Given the description of an element on the screen output the (x, y) to click on. 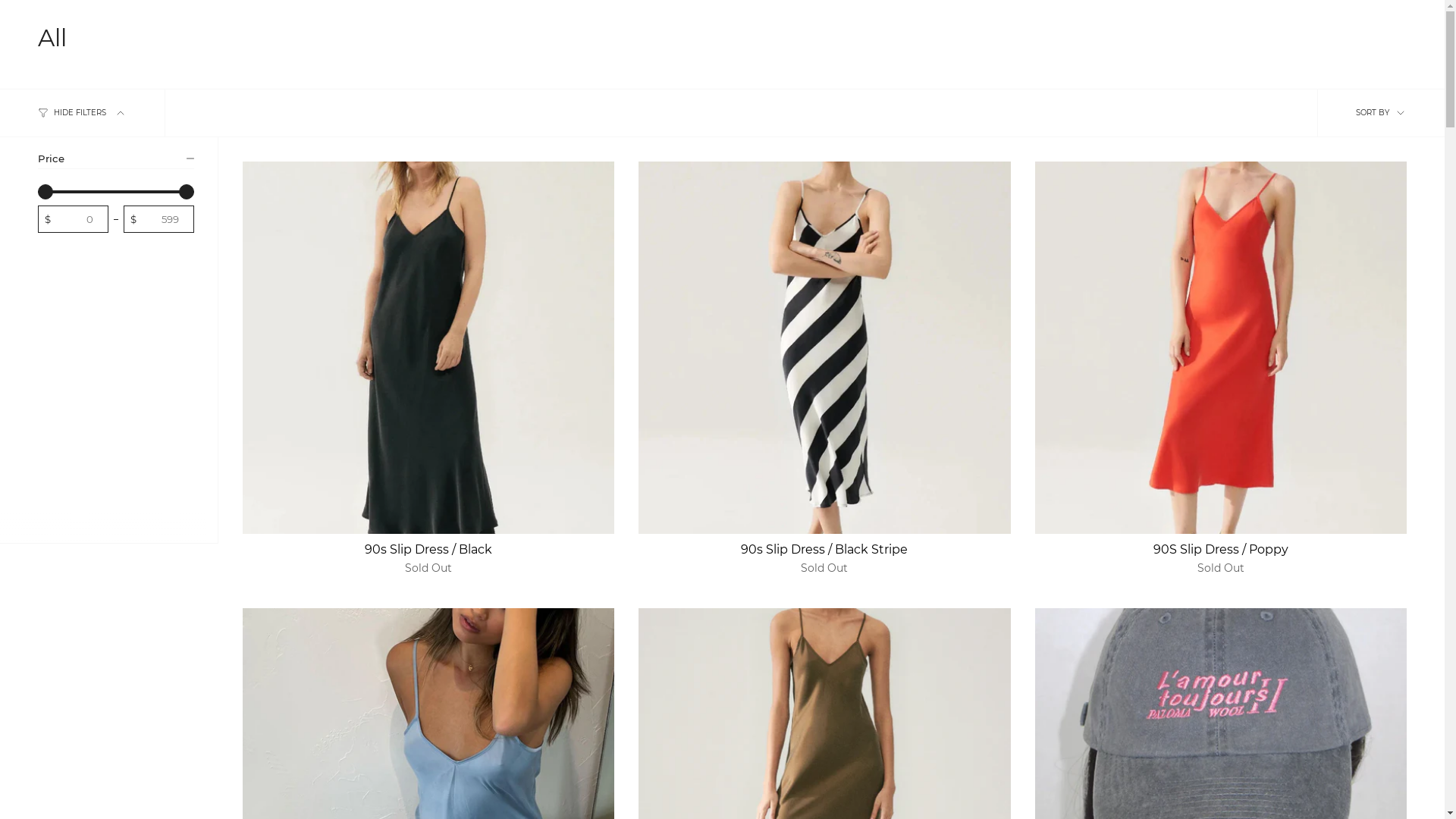
90S Slip Dress / Poppy
Sold Out Element type: text (1220, 558)
HIDE FILTERS Element type: text (82, 112)
  Element type: text (428, 347)
90s Slip Dress / Black Stripe
Sold Out Element type: text (823, 558)
  Element type: text (1220, 347)
90s Slip Dress / Black
Sold Out Element type: text (428, 558)
  Element type: text (824, 347)
SORT BY Element type: text (1380, 112)
